Given the description of an element on the screen output the (x, y) to click on. 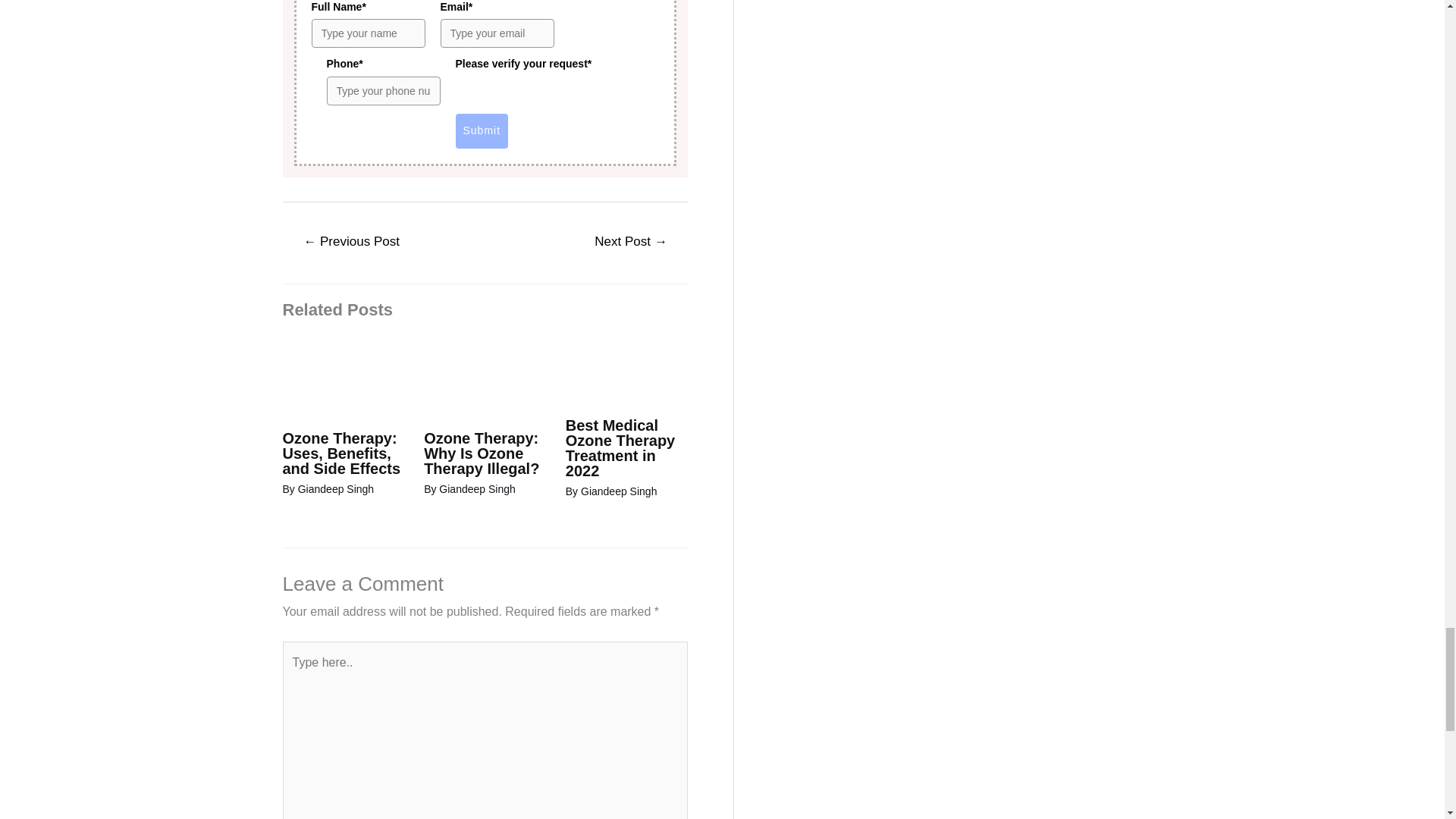
View all posts by Giandeep Singh (477, 489)
View all posts by Giandeep Singh (336, 489)
View all posts by Giandeep Singh (618, 491)
